Given the description of an element on the screen output the (x, y) to click on. 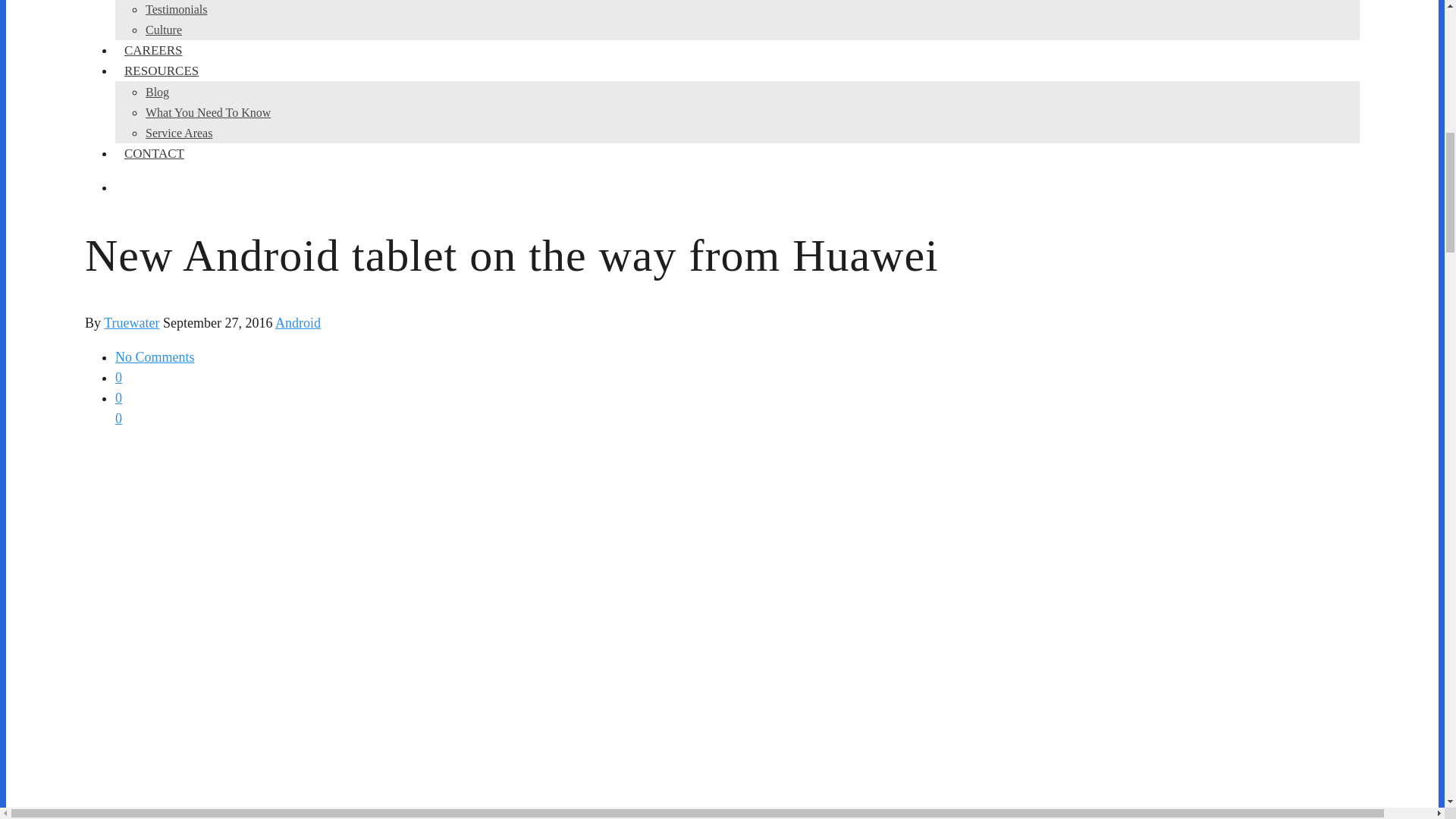
CONTACT (153, 153)
Blog (156, 91)
Culture (163, 29)
Service Areas (178, 132)
Testimonials (176, 9)
RESOURCES (160, 70)
What You Need To Know (207, 112)
Posts by Truewater (130, 322)
CAREERS (153, 50)
